Given the description of an element on the screen output the (x, y) to click on. 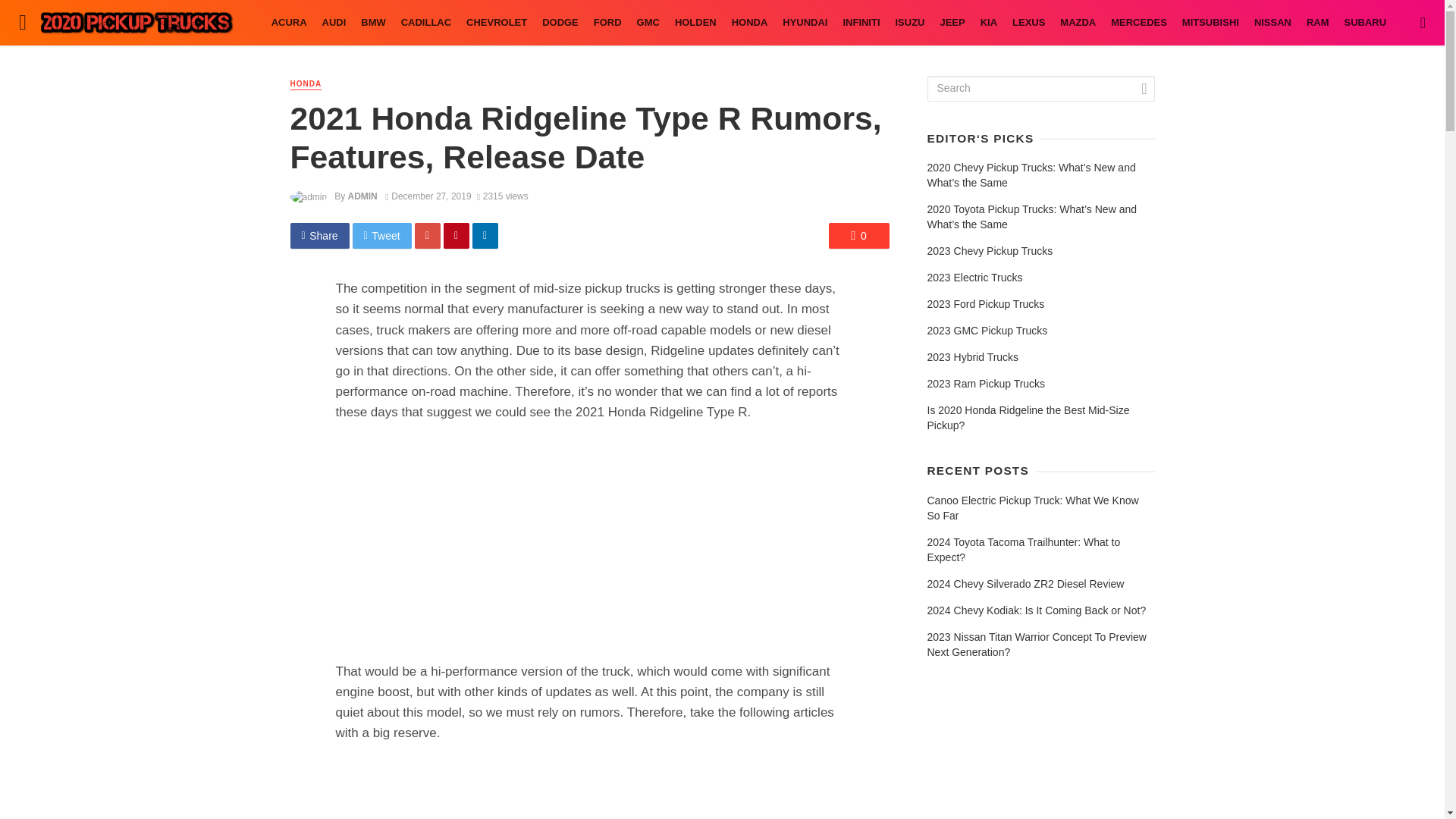
FORD (607, 22)
Posts by admin (362, 195)
December 27, 2019 at 11:32 pm (427, 195)
MAZDA (1077, 22)
MITSUBISHI (1210, 22)
INFINITI (860, 22)
HONDA (305, 84)
Share on Twitter (382, 235)
Share on Facebook (319, 235)
0 Comments (858, 235)
HYUNDAI (804, 22)
Share on Pinterest (456, 235)
NISSAN (1272, 22)
CADILLAC (425, 22)
LEXUS (1028, 22)
